Given the description of an element on the screen output the (x, y) to click on. 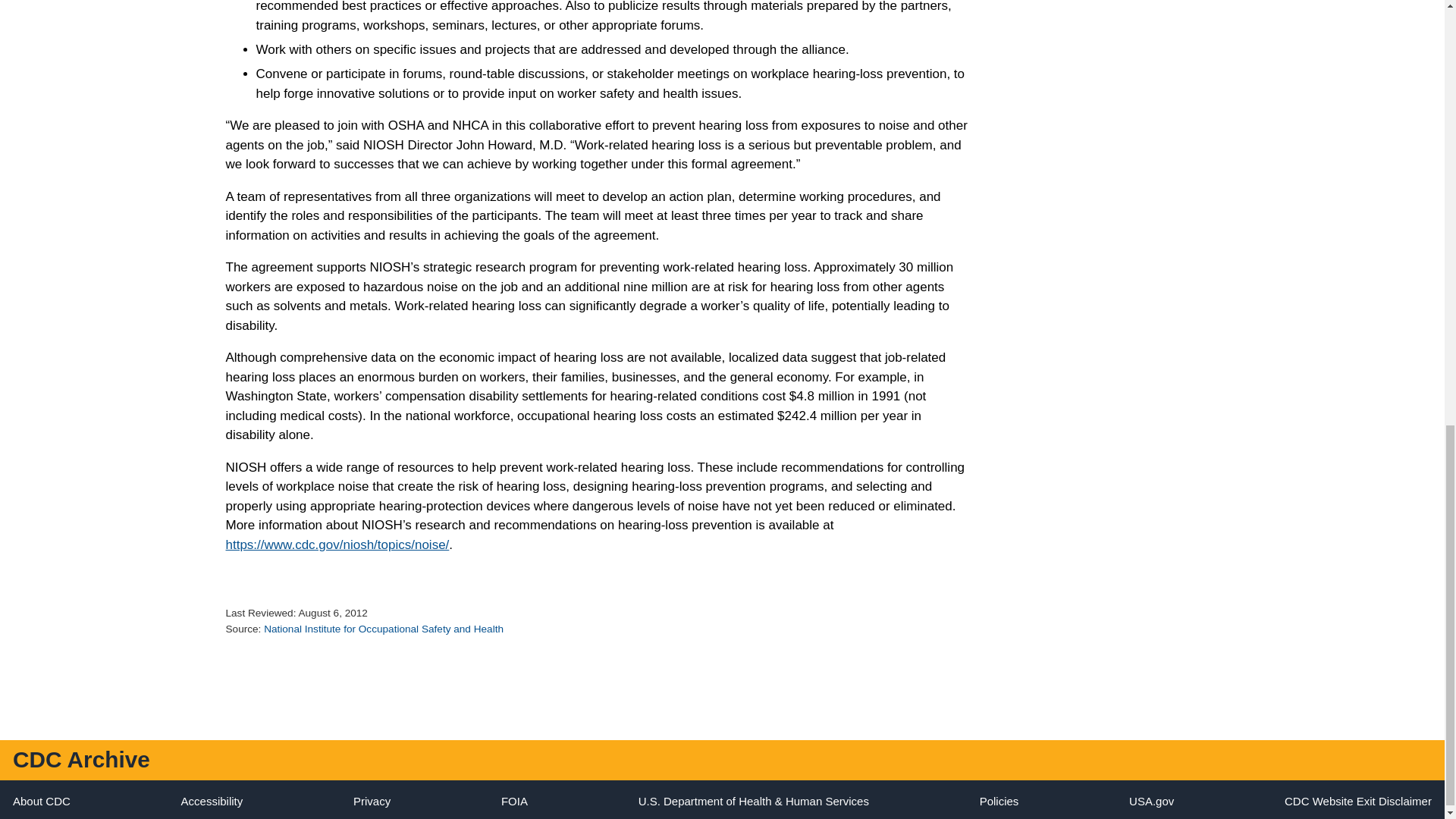
CDC Twenty Four Seven (41, 800)
USA.gov (1151, 800)
CDC Policies and Regulations (999, 800)
CDC Accessibility (211, 800)
National Institute for Occupational Safety and Health (383, 628)
CDC Archive Home (81, 759)
CDC Digital Media Channel Privacy Policy Notice (371, 800)
